Given the description of an element on the screen output the (x, y) to click on. 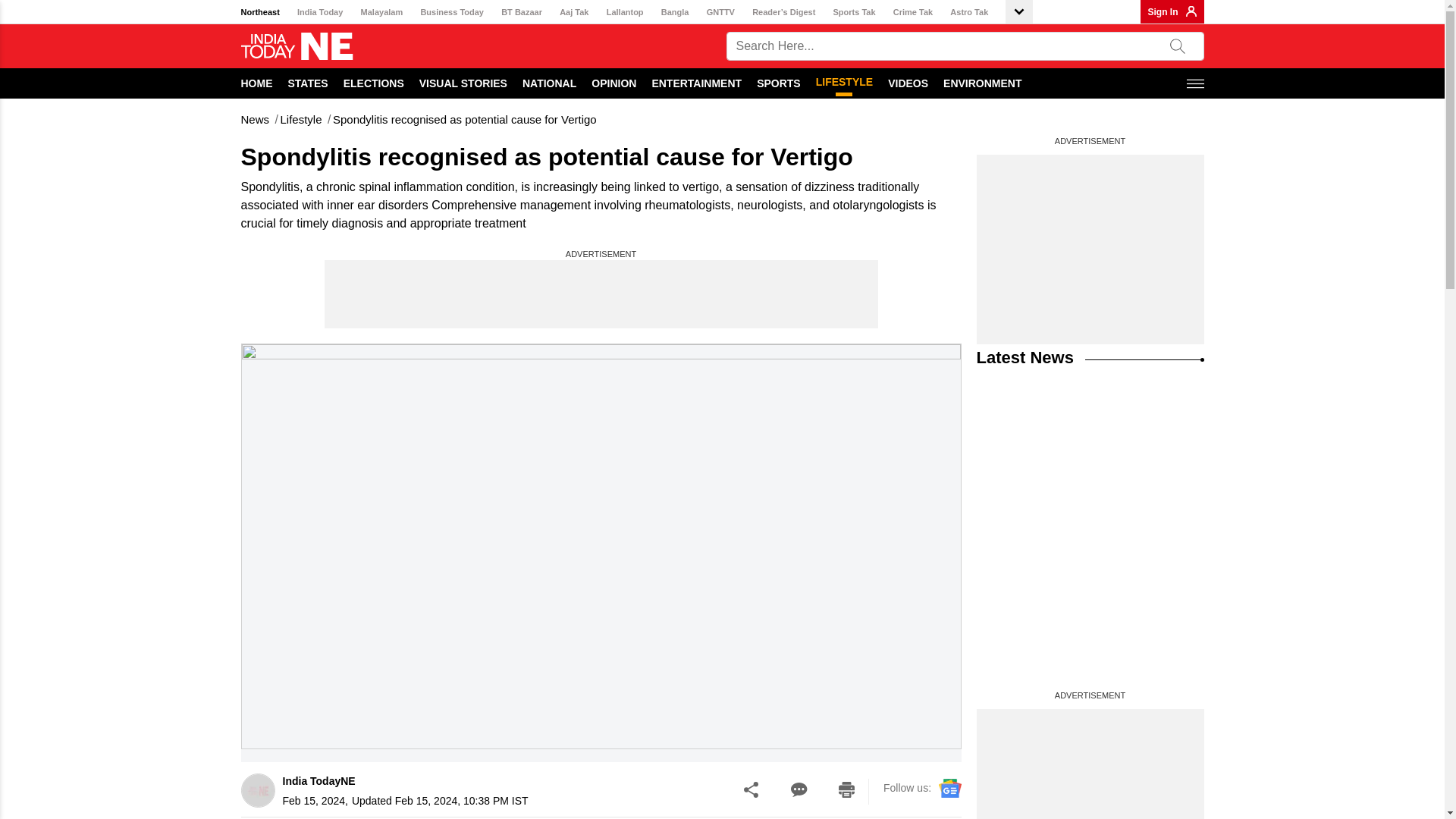
Business Today (451, 12)
GNTTV (720, 12)
Bangla (674, 12)
VISUAL STORIES (462, 82)
STATES (308, 82)
India Today (319, 12)
HOME (257, 82)
Sports Tak (854, 12)
Astro Tak (969, 12)
Crime Tak (913, 12)
